Given the description of an element on the screen output the (x, y) to click on. 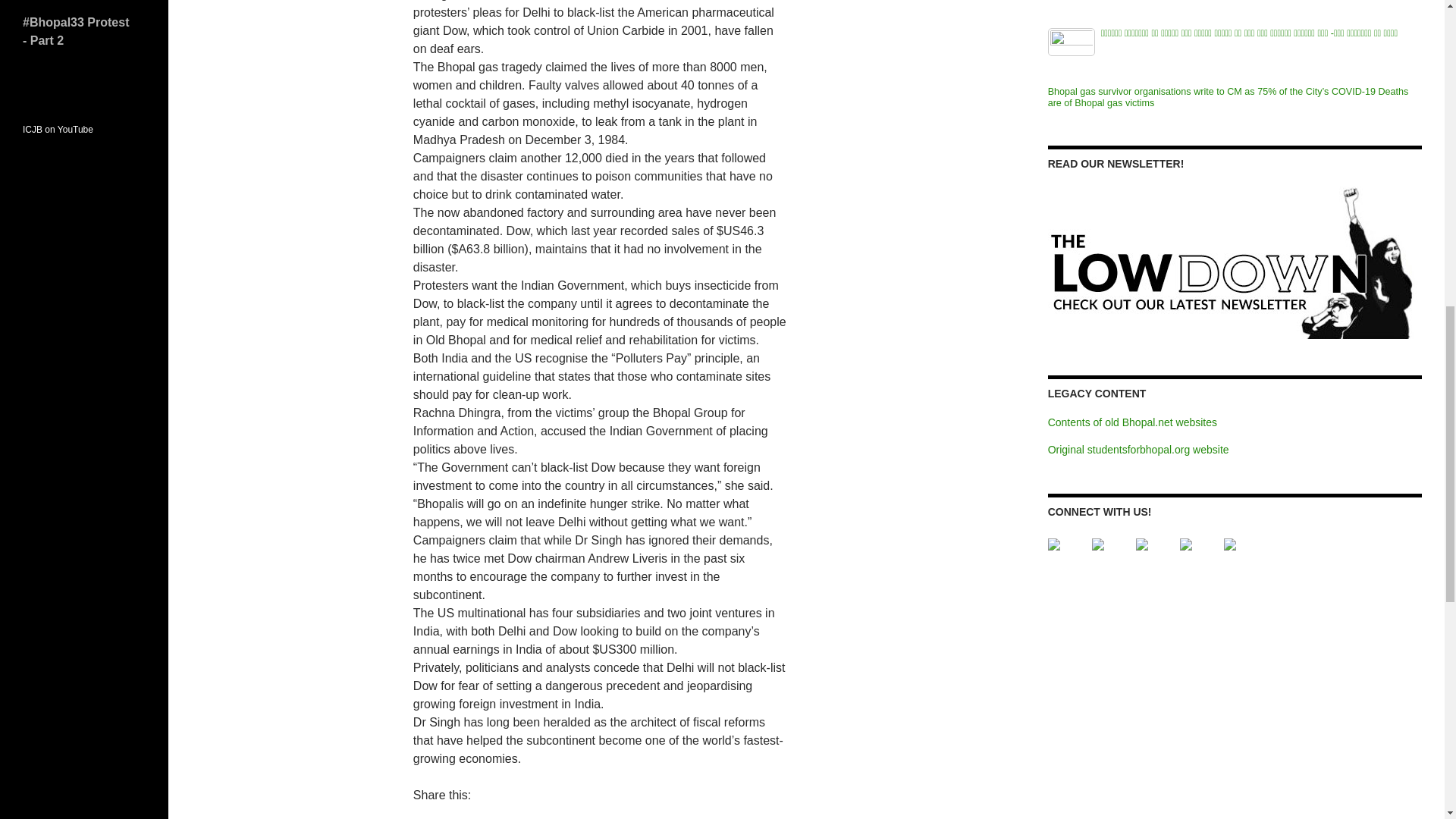
Follow us on facebook (1066, 556)
Find us on YouTube (1141, 544)
Follow us on facebook (1053, 544)
Follow us on Twitter (1110, 556)
Follow us on Twitter (1097, 544)
Find us on YouTube (1153, 556)
